Given the description of an element on the screen output the (x, y) to click on. 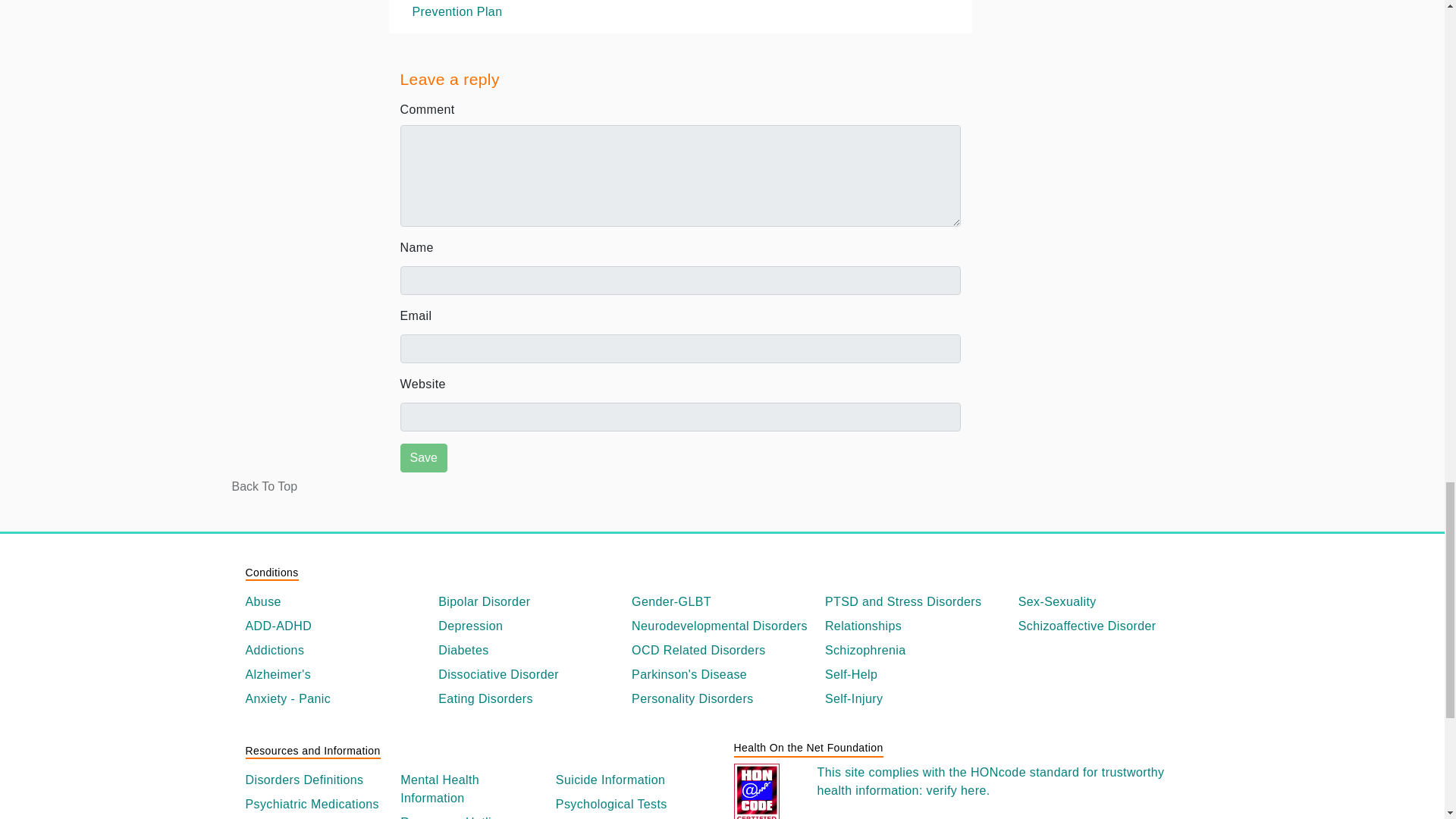
Parkinson's Disease Information Articles (721, 674)
